Given the description of an element on the screen output the (x, y) to click on. 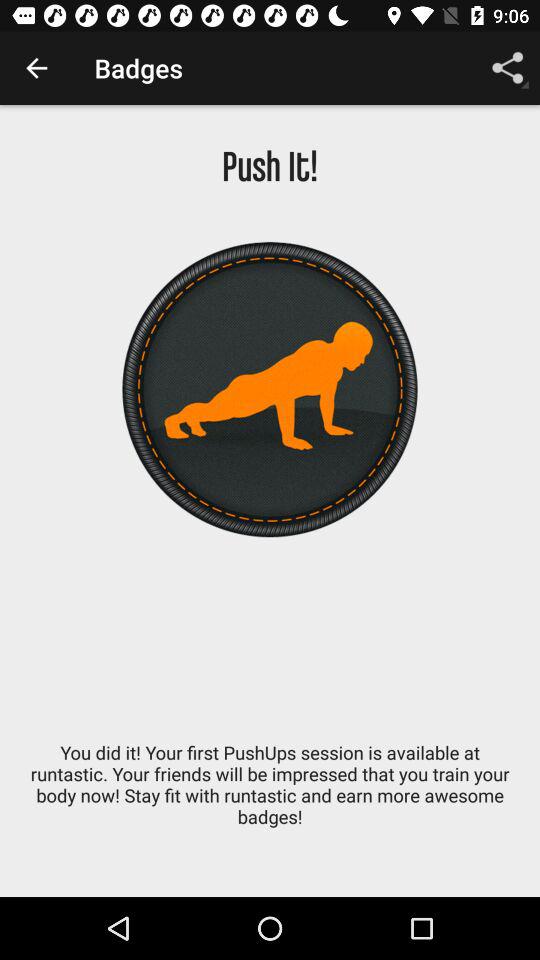
scroll to you did it item (270, 795)
